Given the description of an element on the screen output the (x, y) to click on. 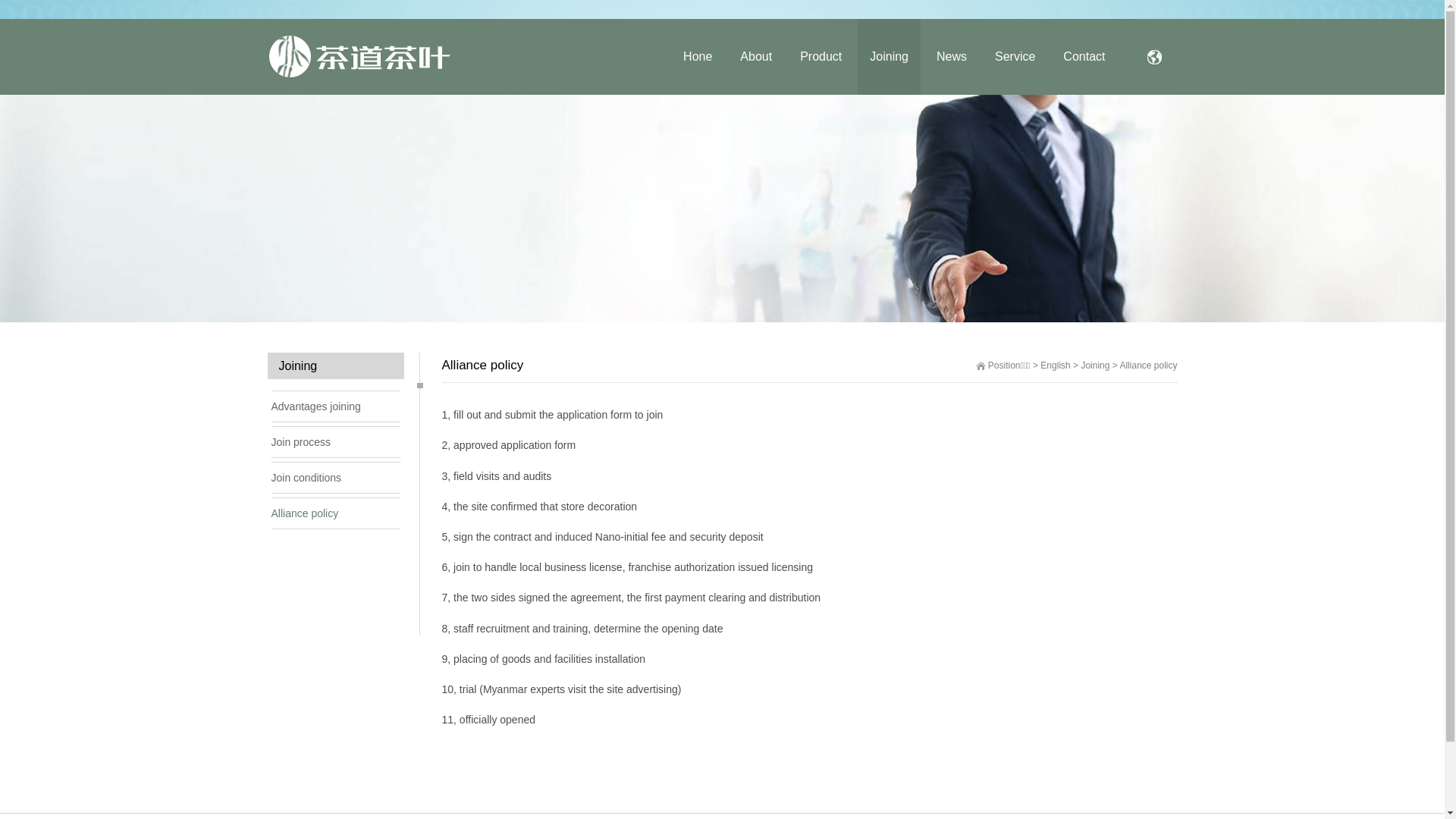
Product Element type: text (820, 56)
Service Element type: text (1014, 56)
News Element type: text (951, 56)
English Element type: text (1055, 365)
Alliance policy Element type: text (1147, 365)
Joining Element type: text (888, 56)
Advantages joining Element type: text (335, 406)
Hone Element type: text (697, 56)
Join process Element type: text (335, 441)
Contact Element type: text (1084, 56)
About Element type: text (756, 56)
Alliance policy Element type: text (335, 513)
Joining Element type: text (1094, 365)
Join conditions Element type: text (335, 477)
